Given the description of an element on the screen output the (x, y) to click on. 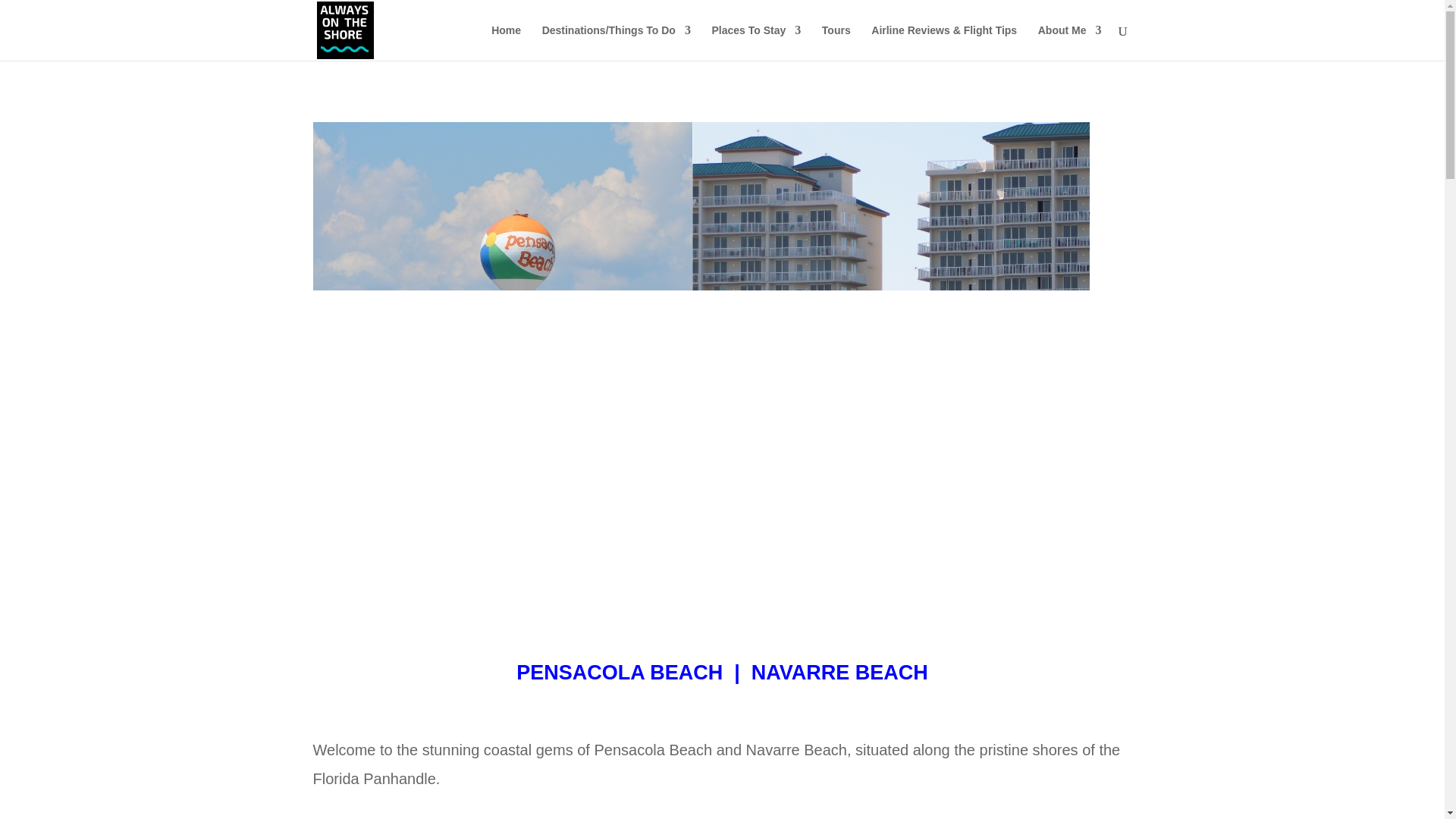
Places To Stay (755, 42)
About Me (1070, 42)
